Given the description of an element on the screen output the (x, y) to click on. 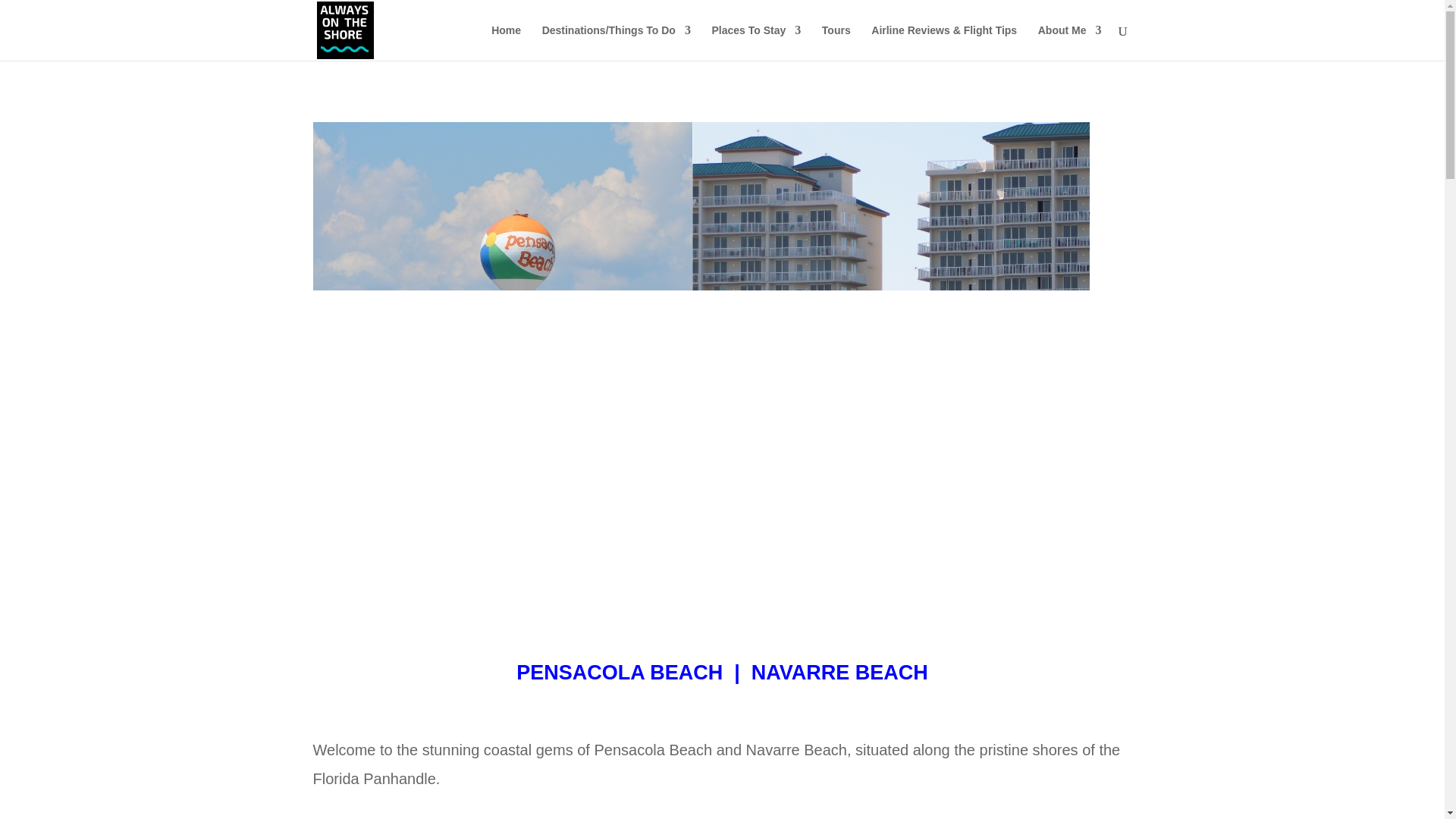
Places To Stay (755, 42)
About Me (1070, 42)
